Given the description of an element on the screen output the (x, y) to click on. 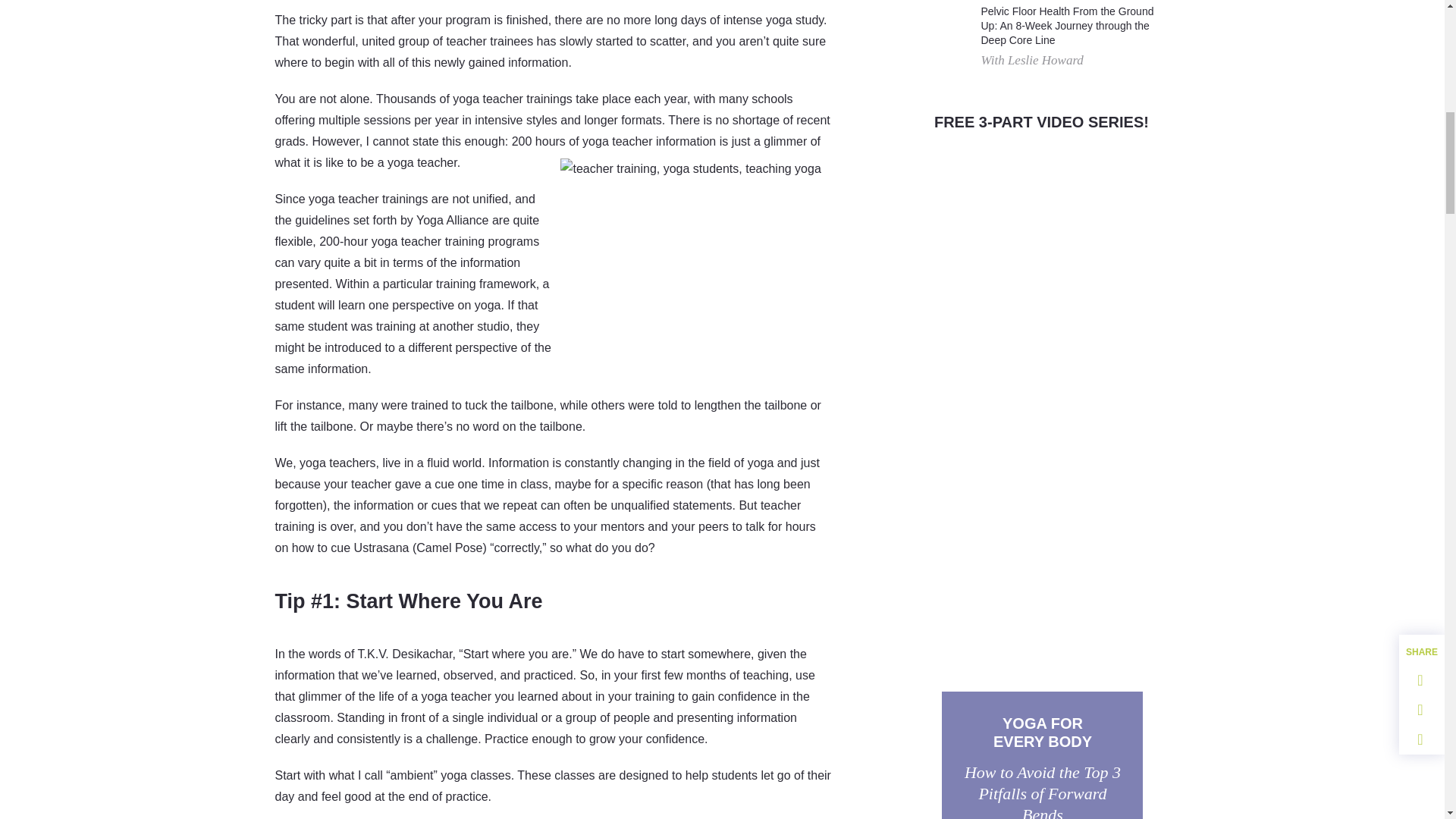
teacher training, yoga students, teaching yoga (692, 246)
